Given the description of an element on the screen output the (x, y) to click on. 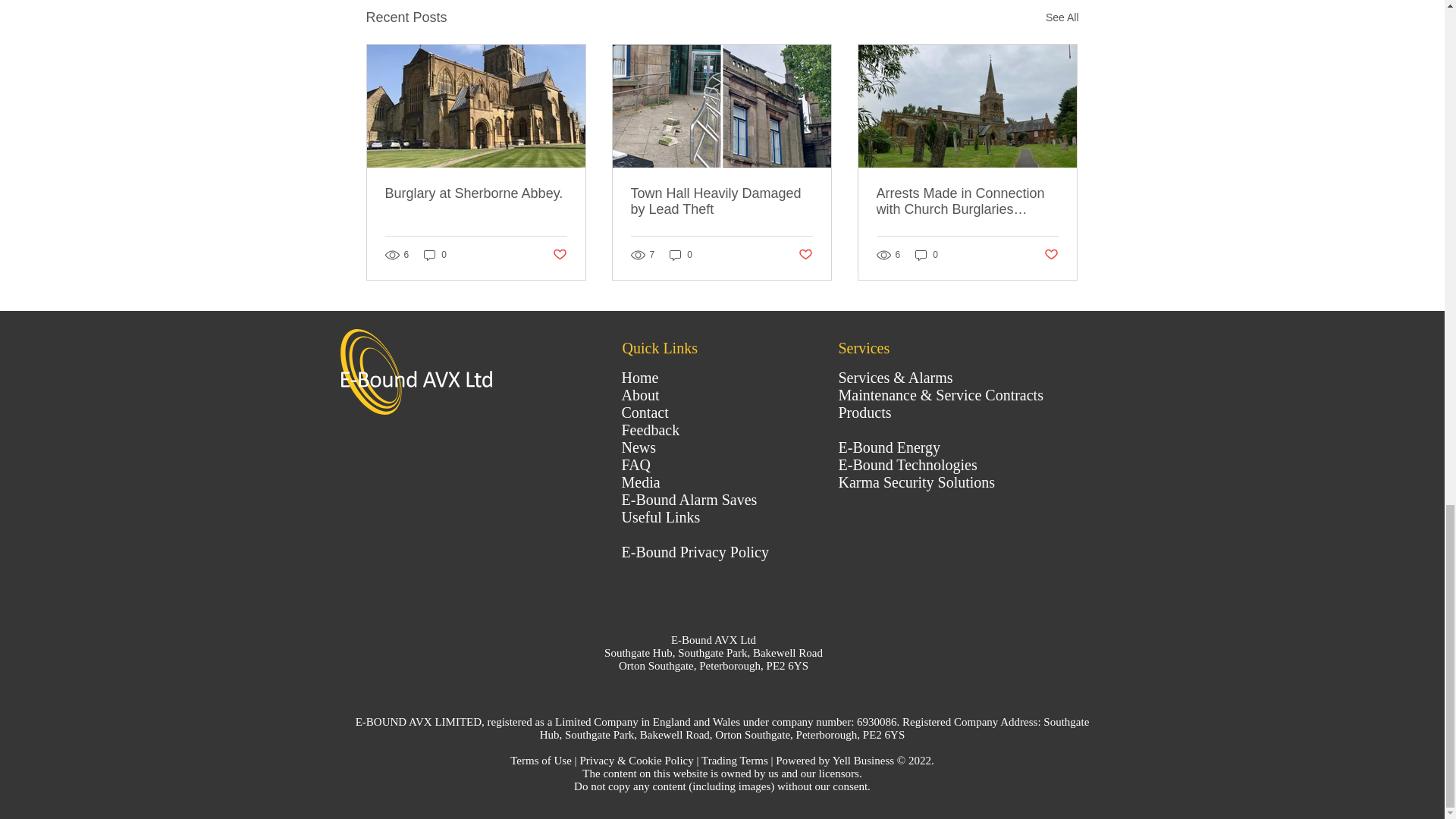
See All (1061, 17)
Town Hall Heavily Damaged by Lead Theft (721, 201)
E-Bound Privacy Policy (694, 551)
Contact (644, 412)
Post not marked as liked (1050, 254)
0 (681, 255)
About (640, 394)
Burglary at Sherborne Abbey. (476, 193)
FAQ (635, 464)
